Given the description of an element on the screen output the (x, y) to click on. 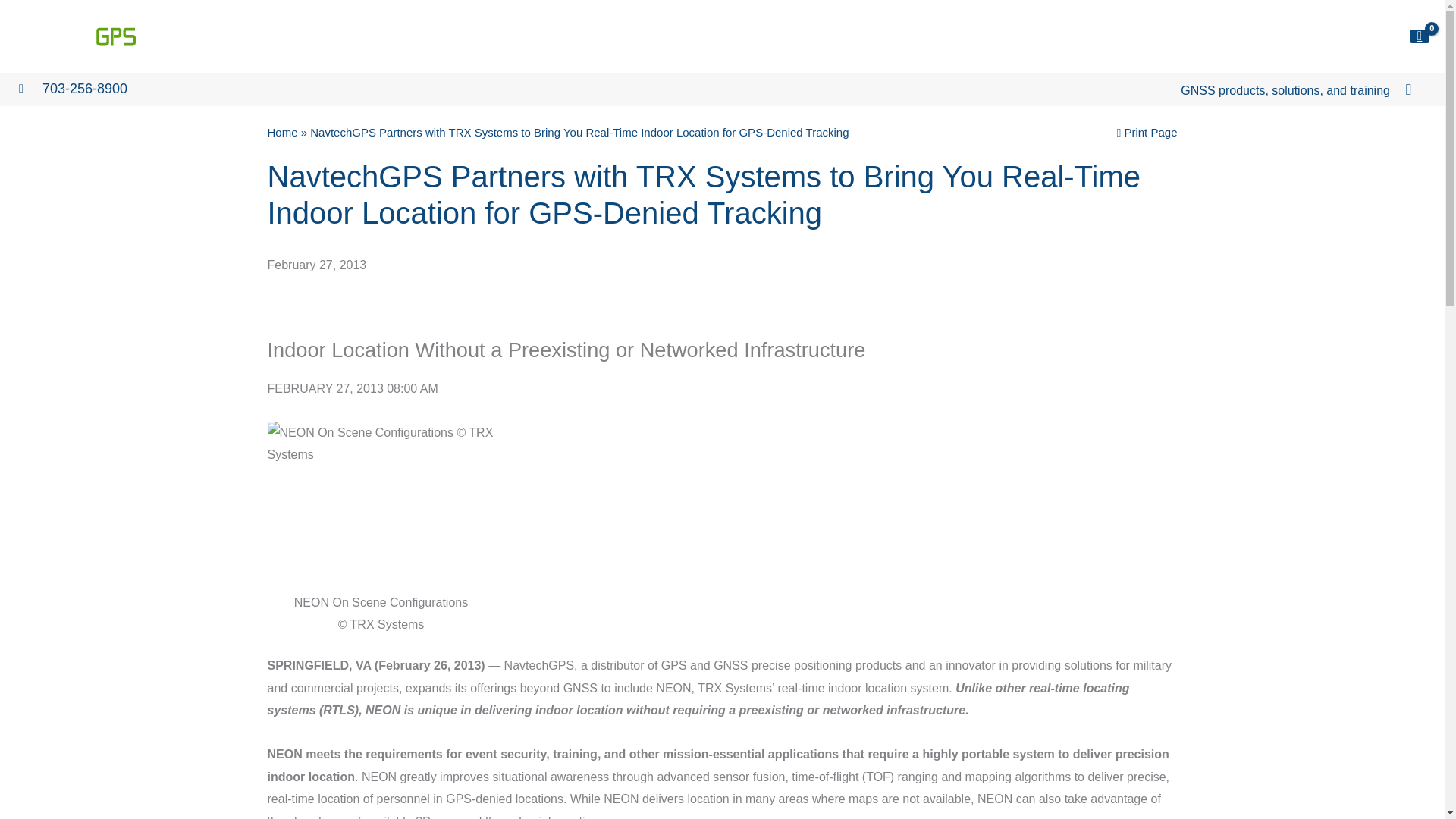
PRODUCTS (797, 36)
print test (1146, 132)
MANUFACTURERS (902, 36)
